Given the description of an element on the screen output the (x, y) to click on. 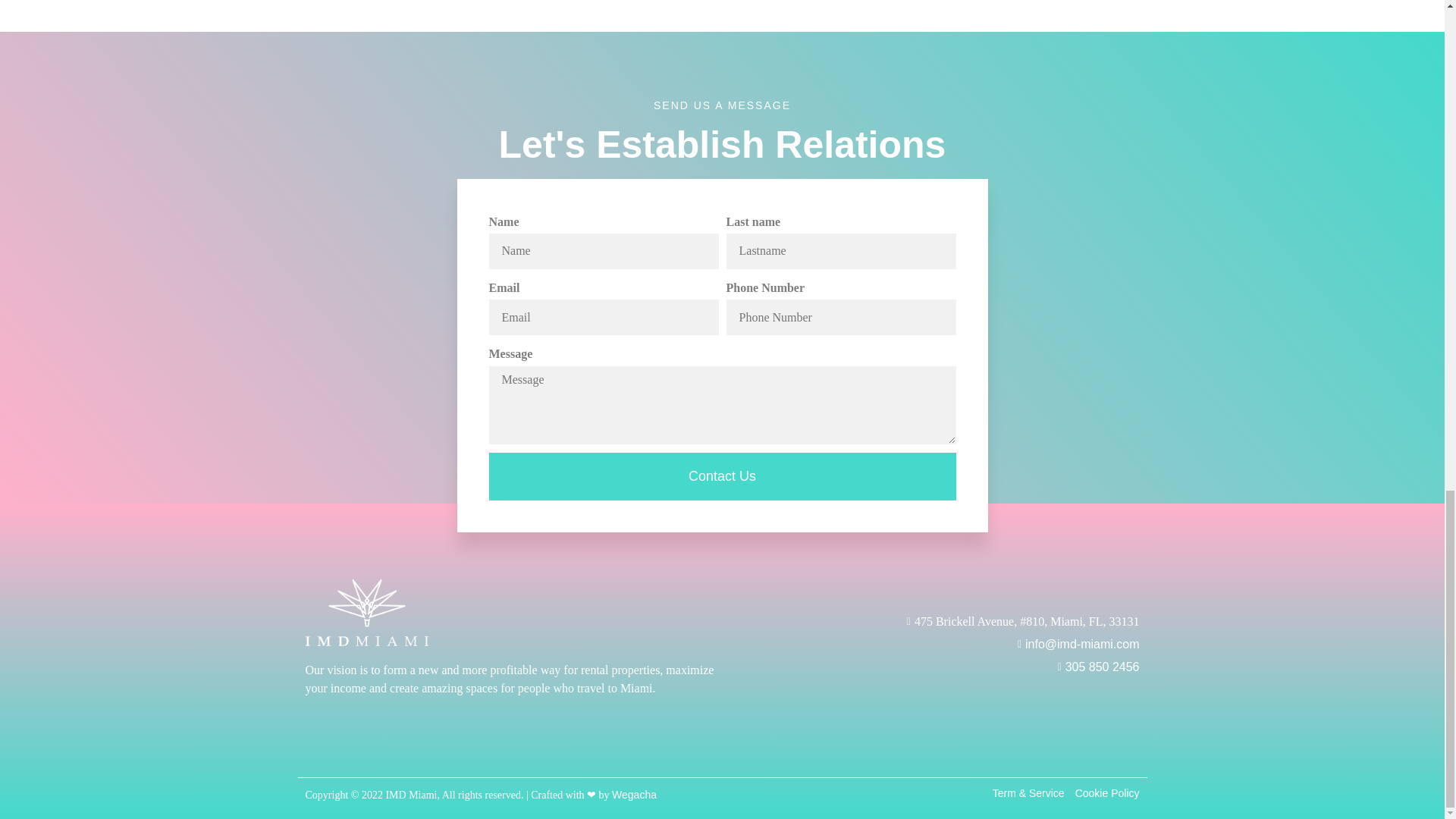
305 850 2456 (933, 667)
Contact Us (721, 476)
Cookie Policy (1107, 793)
Wegacha (633, 794)
